Given the description of an element on the screen output the (x, y) to click on. 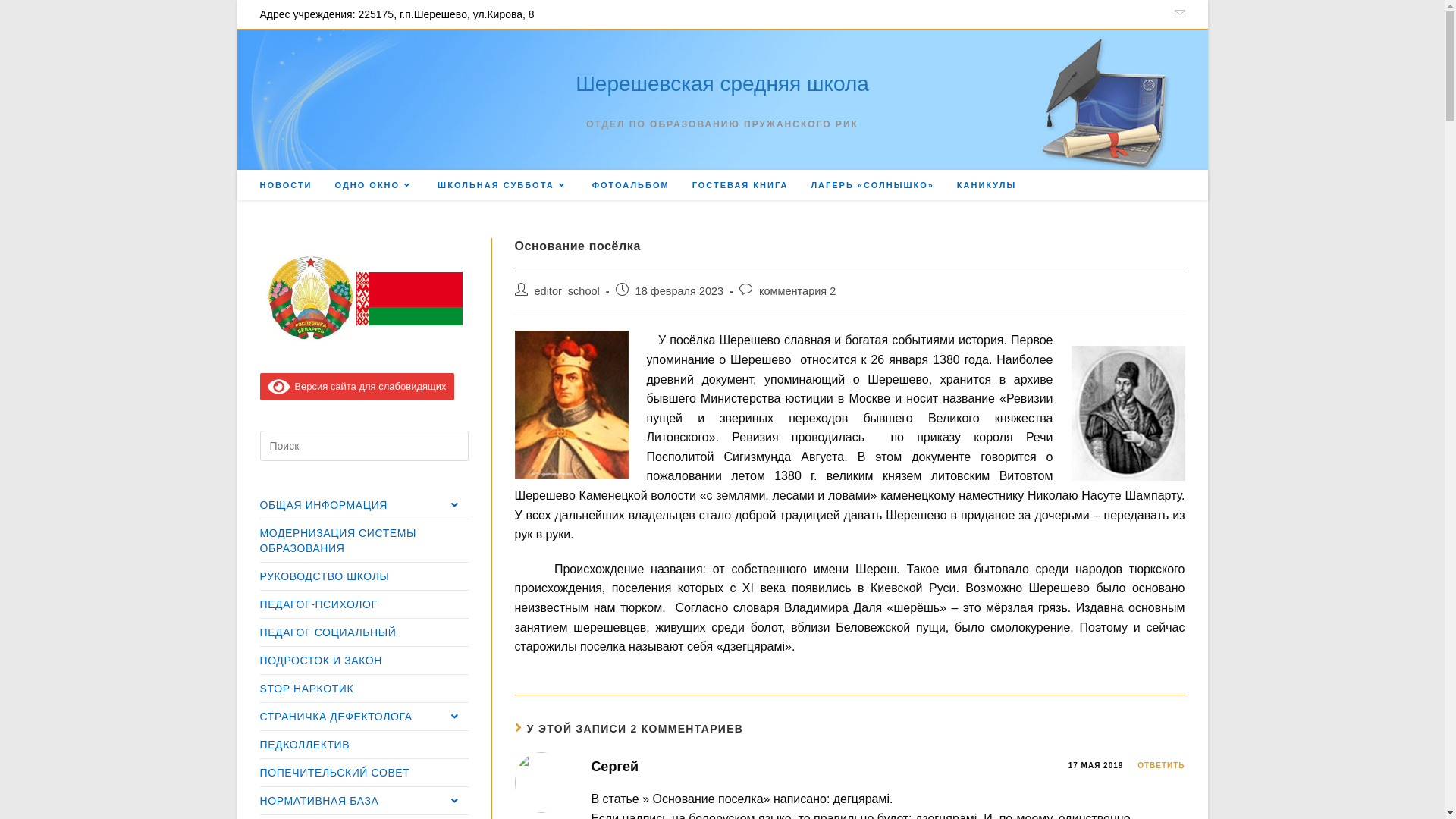
editor_school Element type: text (566, 291)
